Given the description of an element on the screen output the (x, y) to click on. 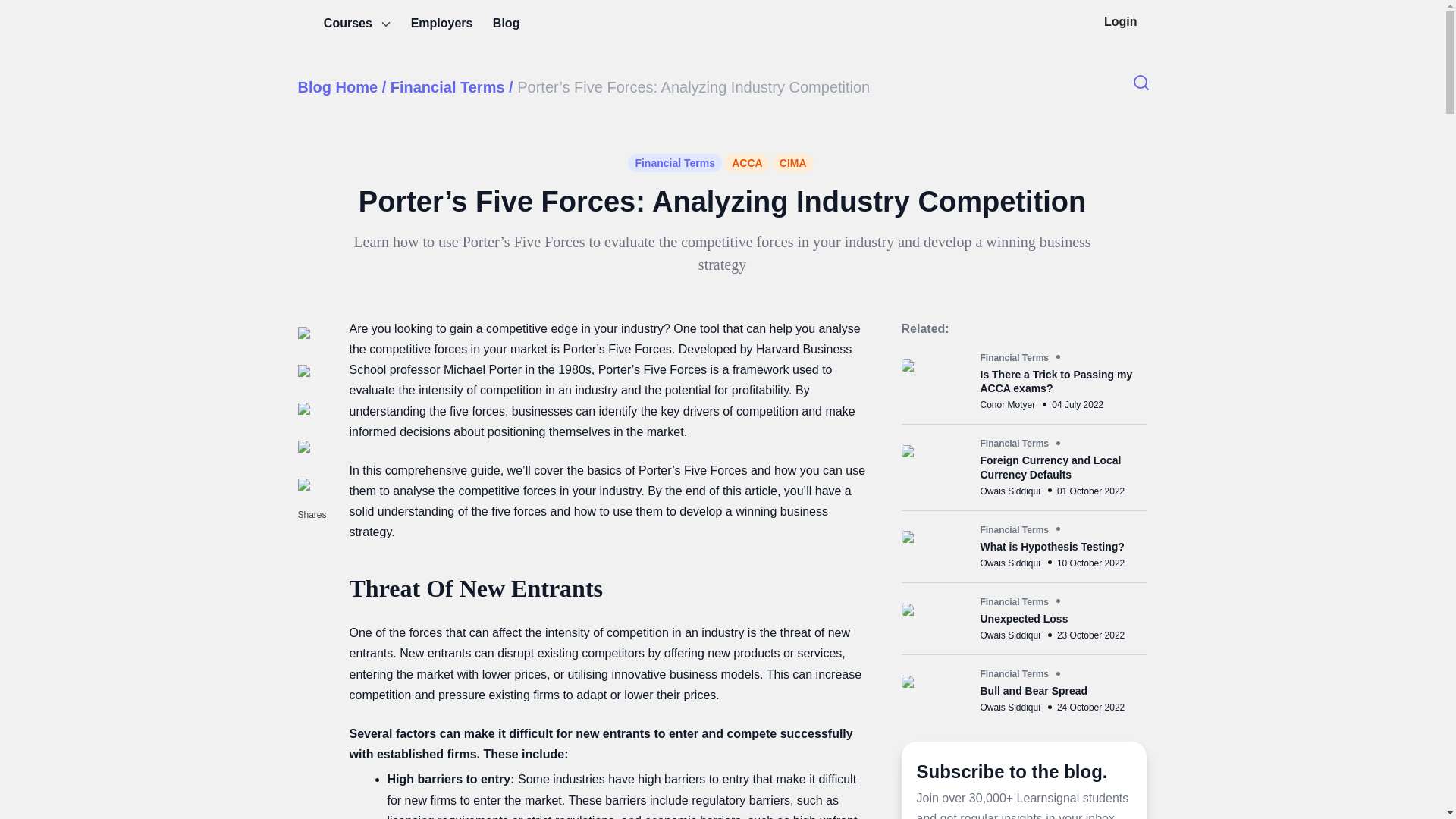
Employers (440, 22)
Blog (506, 22)
Courses (357, 22)
Login (1120, 21)
